Given the description of an element on the screen output the (x, y) to click on. 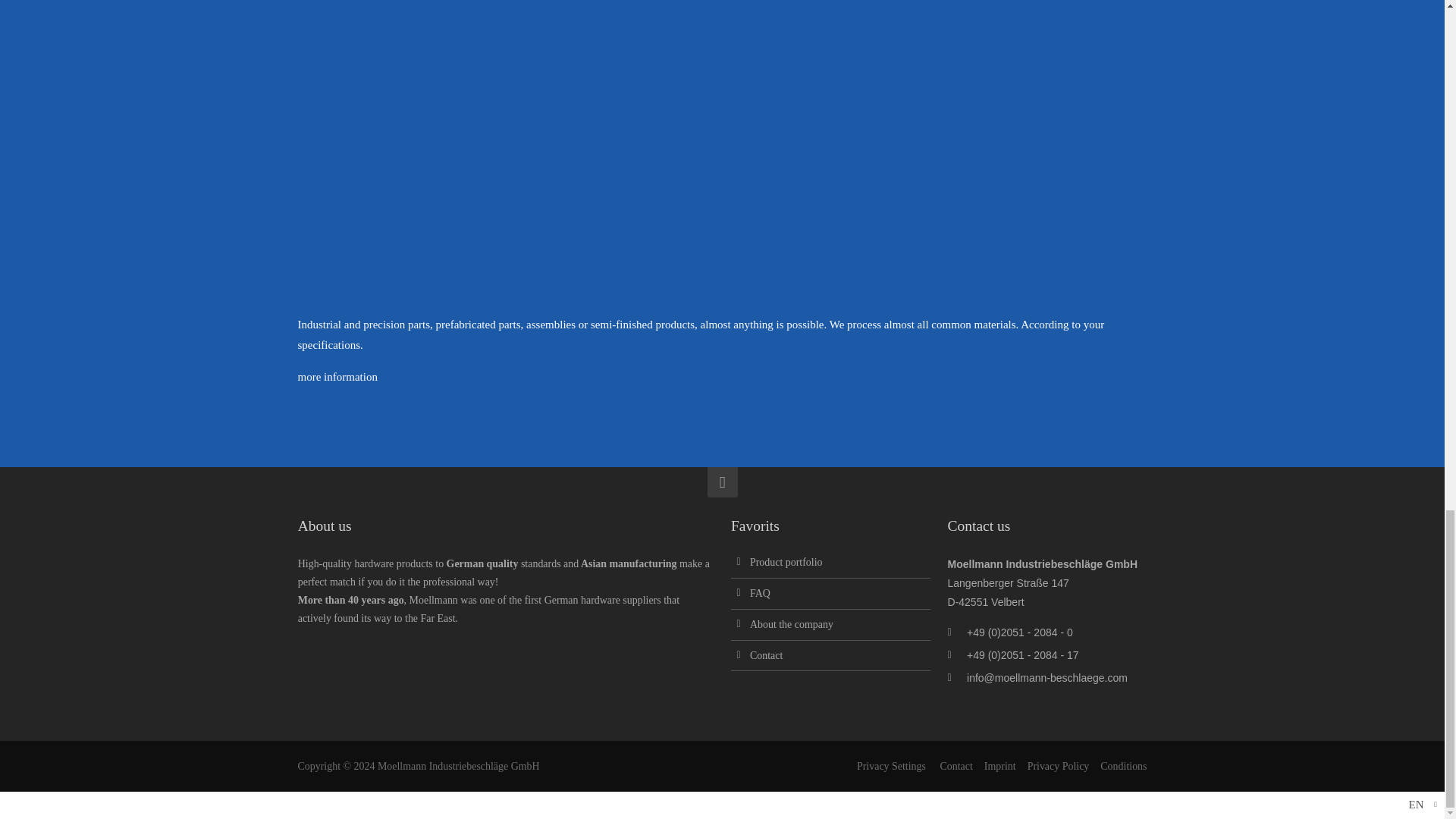
FAQ (759, 593)
Product portfolio (785, 562)
About the company (790, 624)
more information (337, 377)
